Given the description of an element on the screen output the (x, y) to click on. 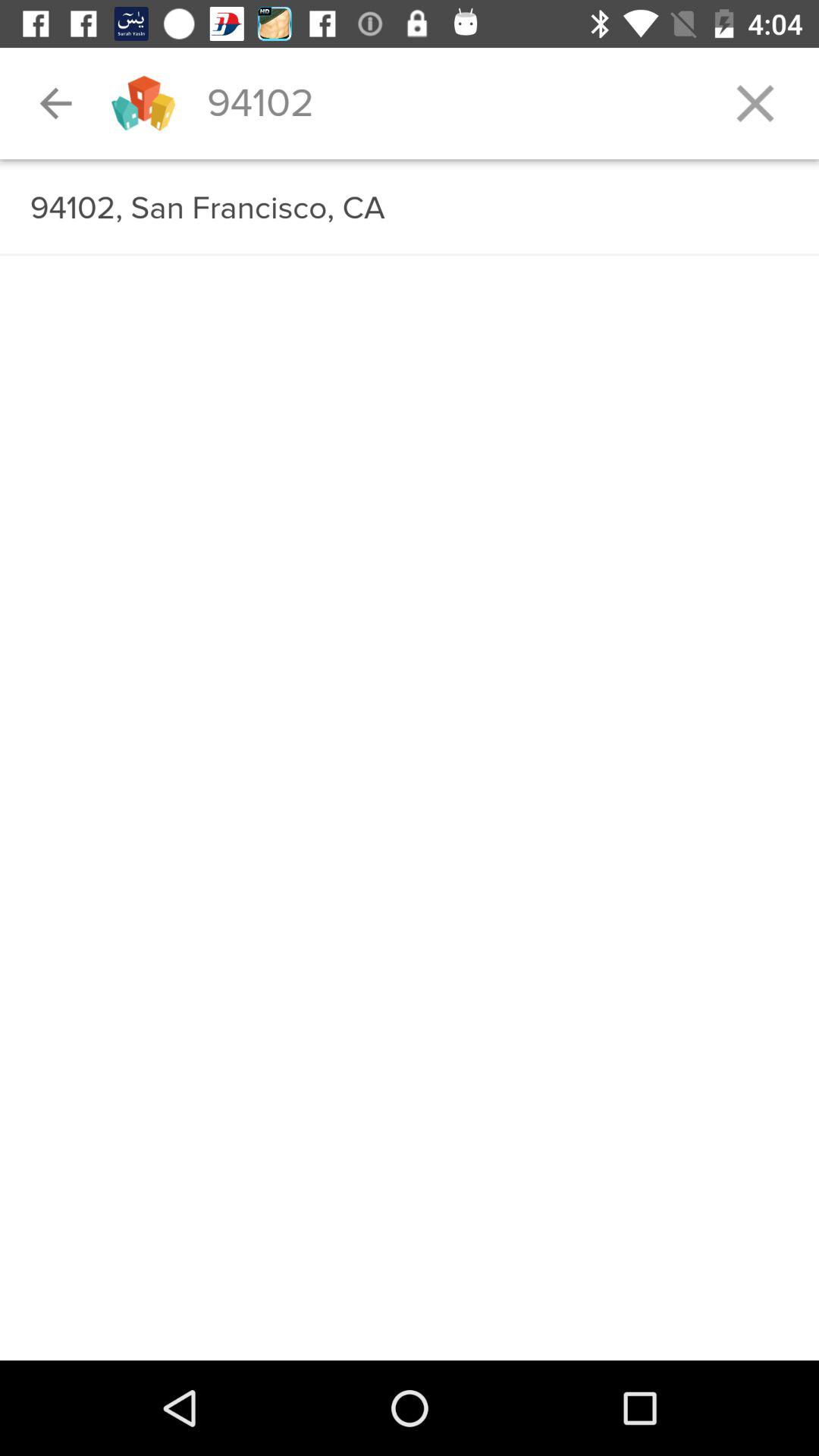
select the item above the 94102 san francisco (409, 160)
